Given the description of an element on the screen output the (x, y) to click on. 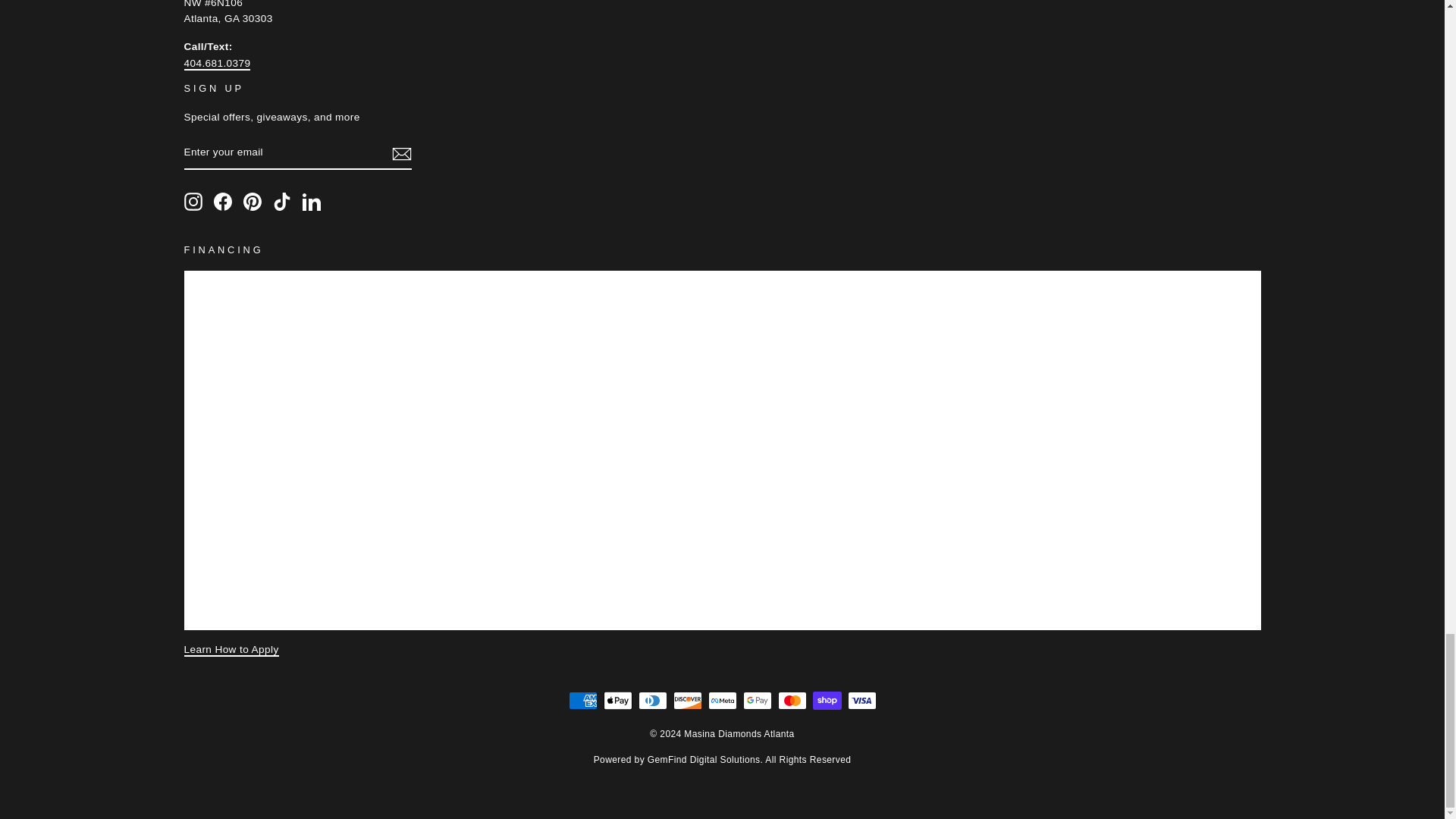
Discover (686, 700)
instagram (192, 201)
Diners Club (652, 700)
Apple Pay (617, 700)
Masina Diamonds Atlanta on Instagram (192, 201)
American Express (582, 700)
icon-email (400, 153)
Masina Diamonds Atlanta on Pinterest (251, 201)
Masina Diamonds Atlanta on LinkedIn (310, 201)
Meta Pay (721, 700)
